Given the description of an element on the screen output the (x, y) to click on. 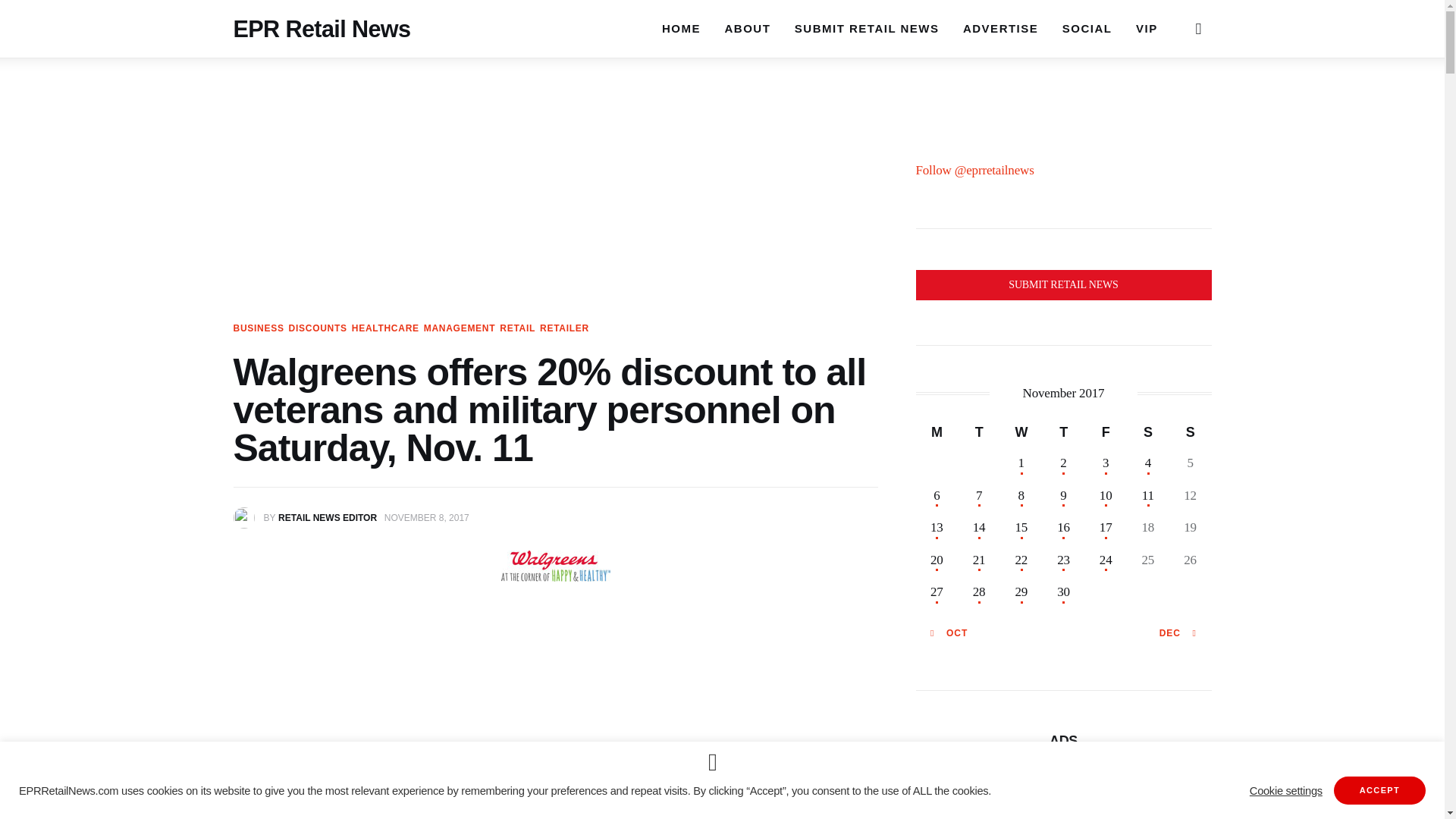
VIP (1146, 28)
ADVERTISE (999, 28)
SUBMIT RETAIL NEWS (866, 28)
Sunday (1190, 431)
SOCIAL (1086, 28)
EPR Retail News (321, 23)
Saturday (1147, 431)
Wednesday (1021, 431)
Advertisement (554, 719)
Friday (1105, 431)
ABOUT (748, 28)
Tuesday (979, 431)
HOME (681, 26)
Advertisement (1063, 804)
